Given the description of an element on the screen output the (x, y) to click on. 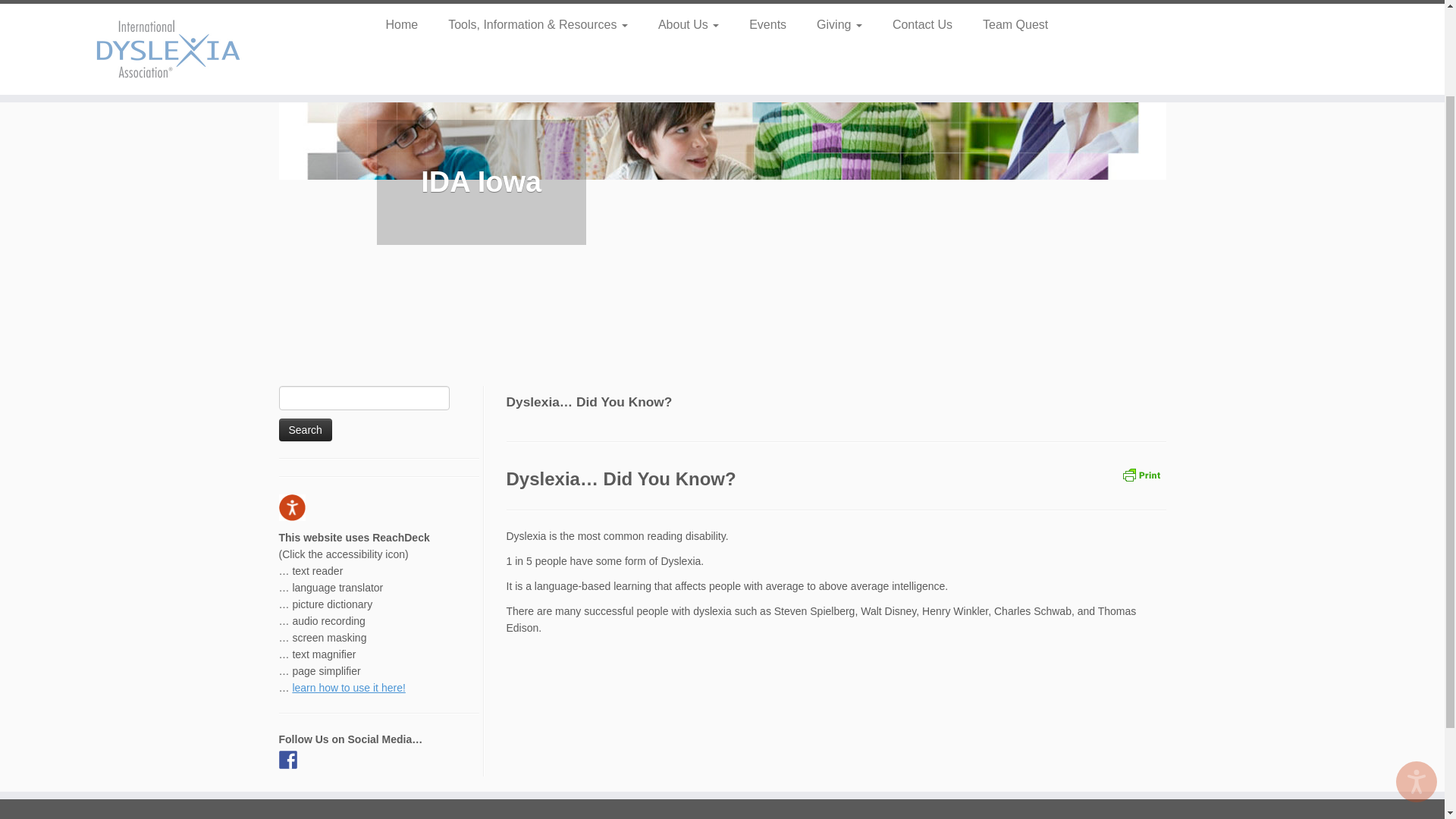
Search (305, 429)
Search (305, 429)
learn how to use it here! (348, 687)
Listen with the ReachDeck Toolbar (1416, 670)
